Given the description of an element on the screen output the (x, y) to click on. 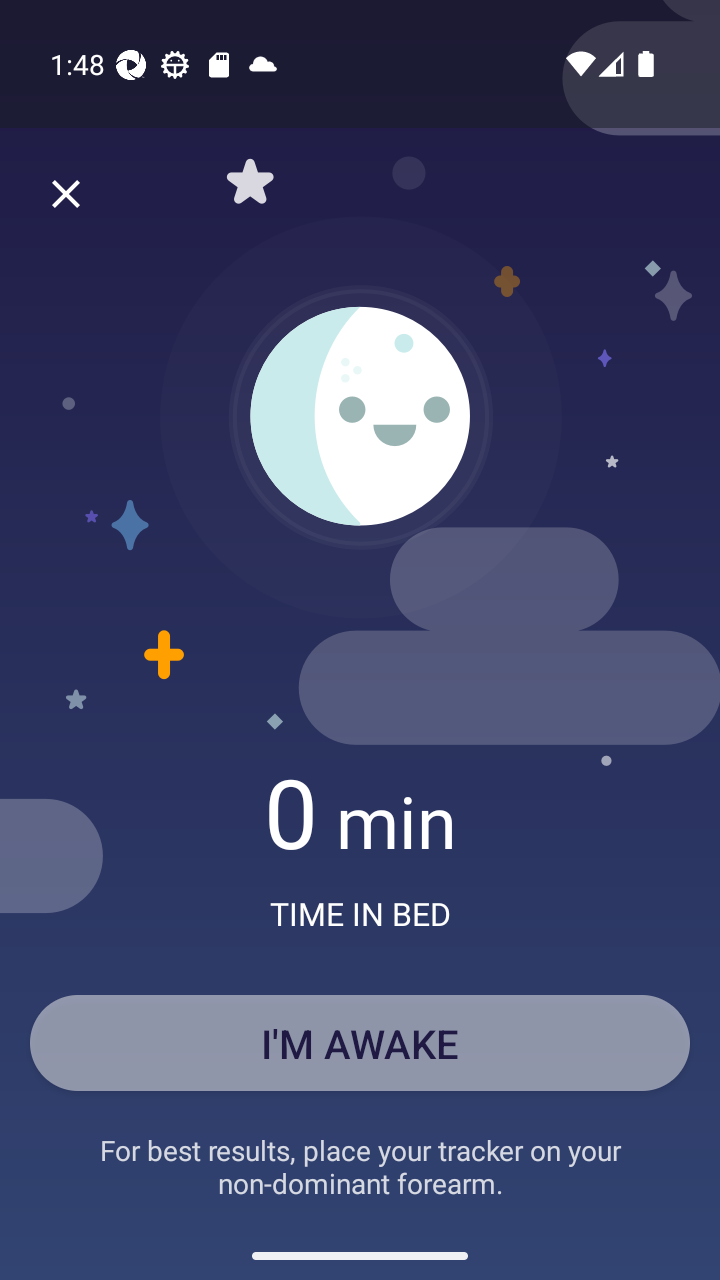
Close (65, 193)
I'M AWAKE (359, 1042)
